Given the description of an element on the screen output the (x, y) to click on. 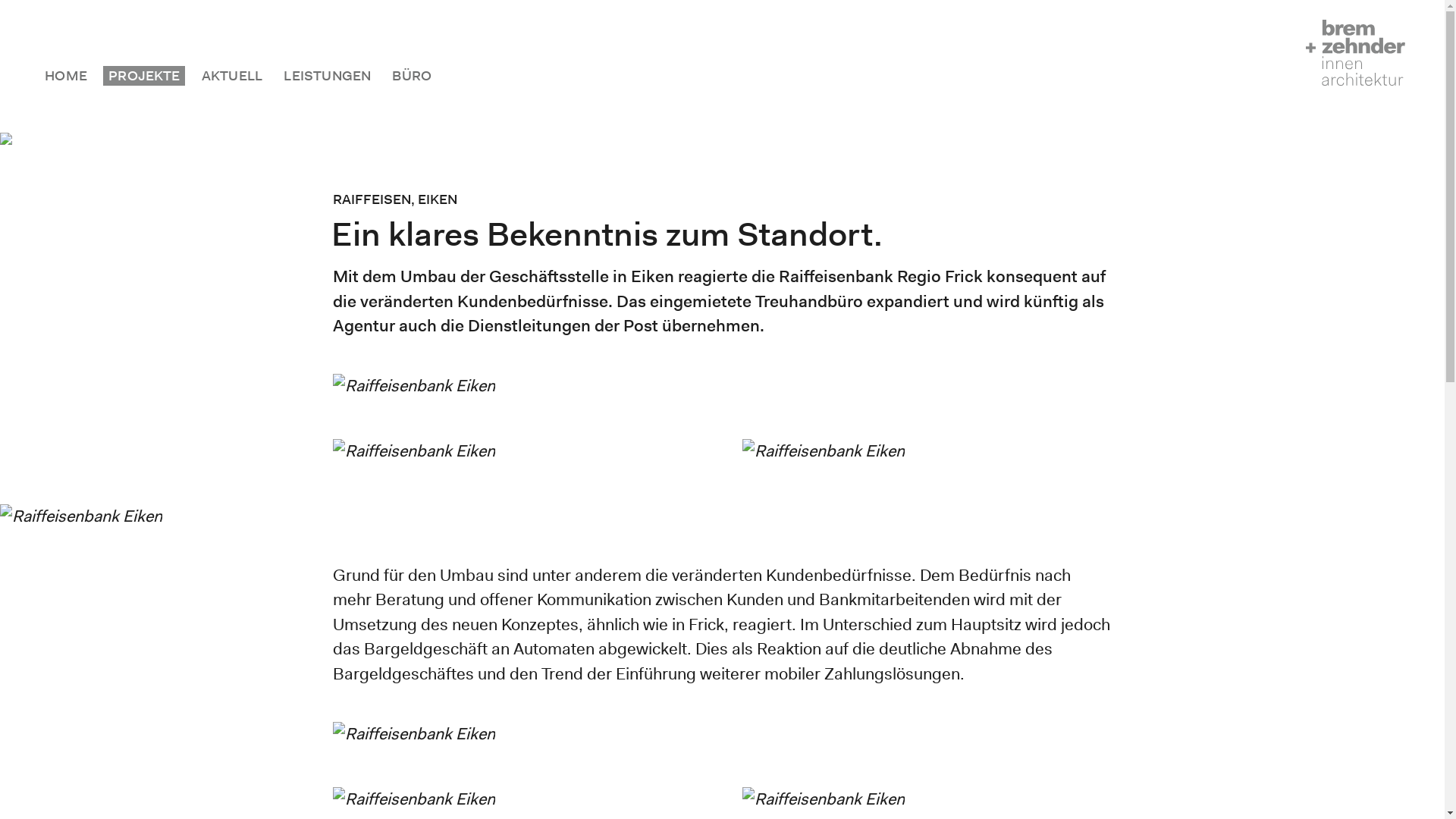
LEISTUNGEN Element type: text (326, 75)
AKTUELL Element type: text (231, 75)
HOME Element type: text (65, 75)
PROJEKTE Element type: text (143, 75)
